Given the description of an element on the screen output the (x, y) to click on. 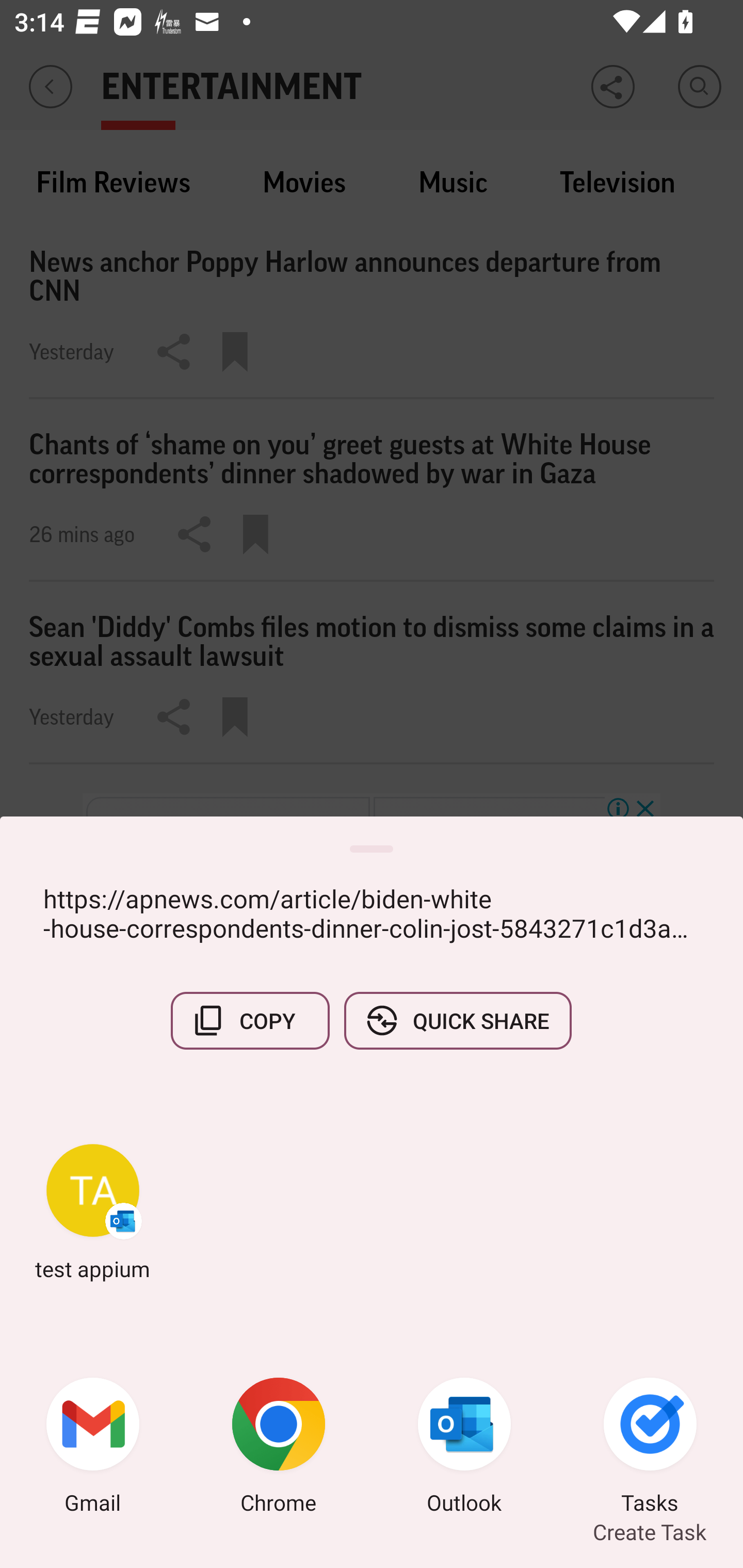
COPY (249, 1020)
QUICK SHARE (457, 1020)
test appium  Outlook test appium (92, 1212)
Gmail (92, 1448)
Chrome (278, 1448)
Outlook (464, 1448)
Tasks Create Task (650, 1448)
